Given the description of an element on the screen output the (x, y) to click on. 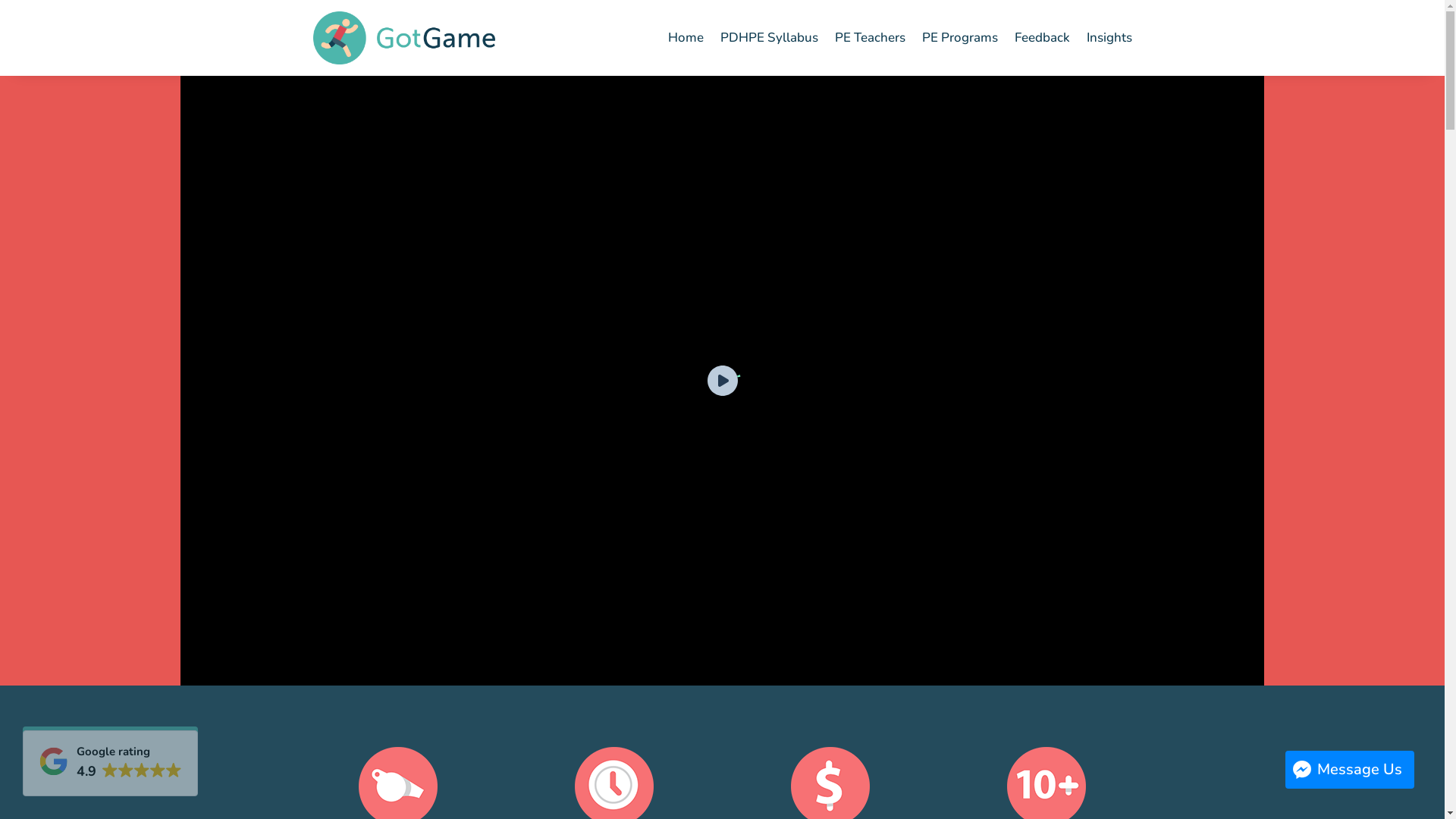
PDHPE Syllabus Element type: text (769, 37)
Synthesia video player - Website Element type: hover (722, 380)
Google rating
4.9 Element type: text (109, 763)
Feedback Element type: text (1042, 37)
PE Programs Element type: text (959, 37)
Home Element type: text (684, 37)
Insights Element type: text (1108, 37)
PE Teachers Element type: text (869, 37)
Message Us Element type: text (1349, 769)
